Given the description of an element on the screen output the (x, y) to click on. 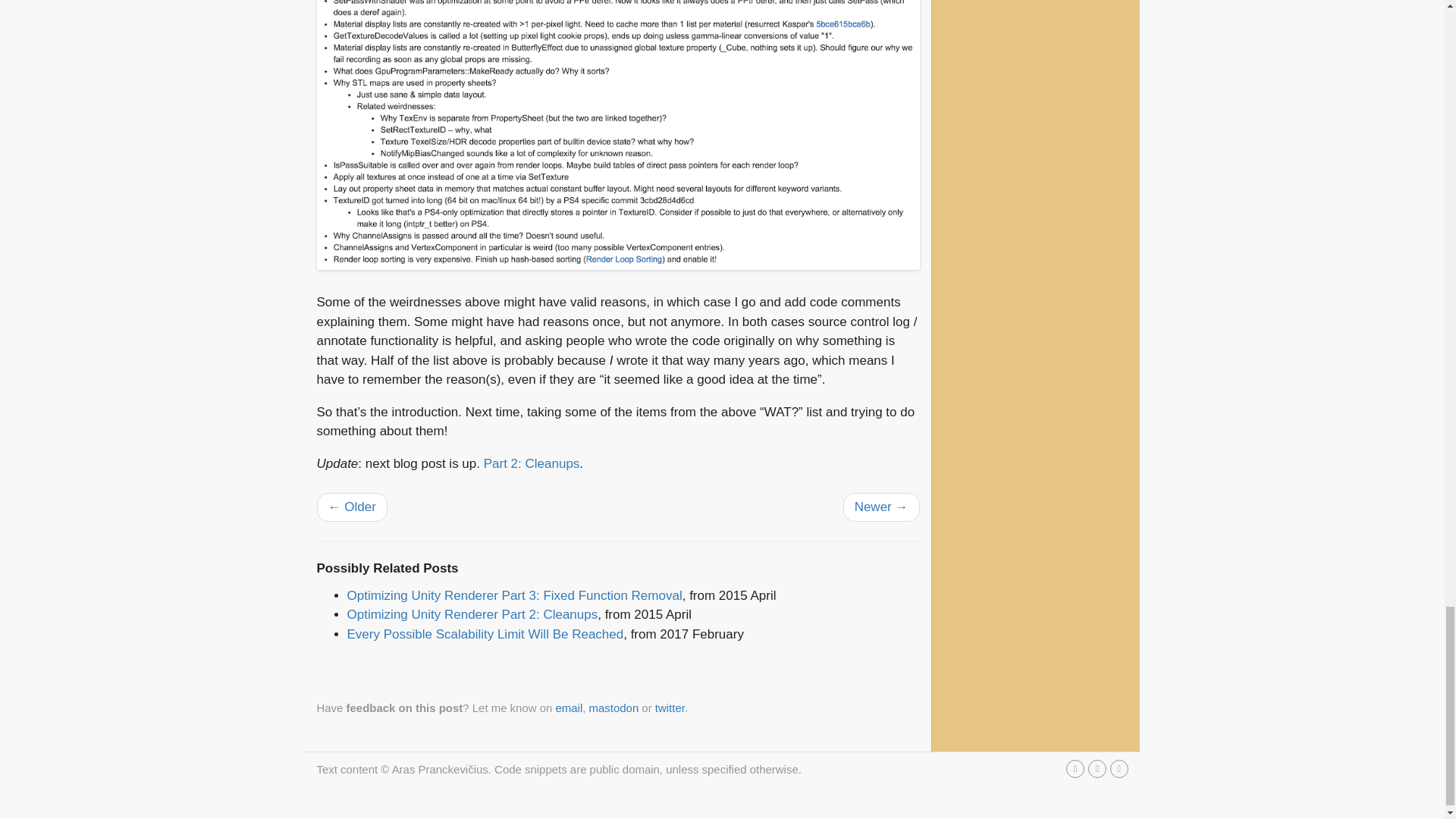
mastodon (614, 707)
email (568, 707)
Every Possible Scalability Limit Will Be Reached (485, 634)
twitter (669, 707)
Part 2: Cleanups (531, 463)
Optimizing Unity Renderer Part 2: Cleanups (472, 614)
Optimizing Unity Renderer Part 3: Fixed Function Removal (514, 595)
